Given the description of an element on the screen output the (x, y) to click on. 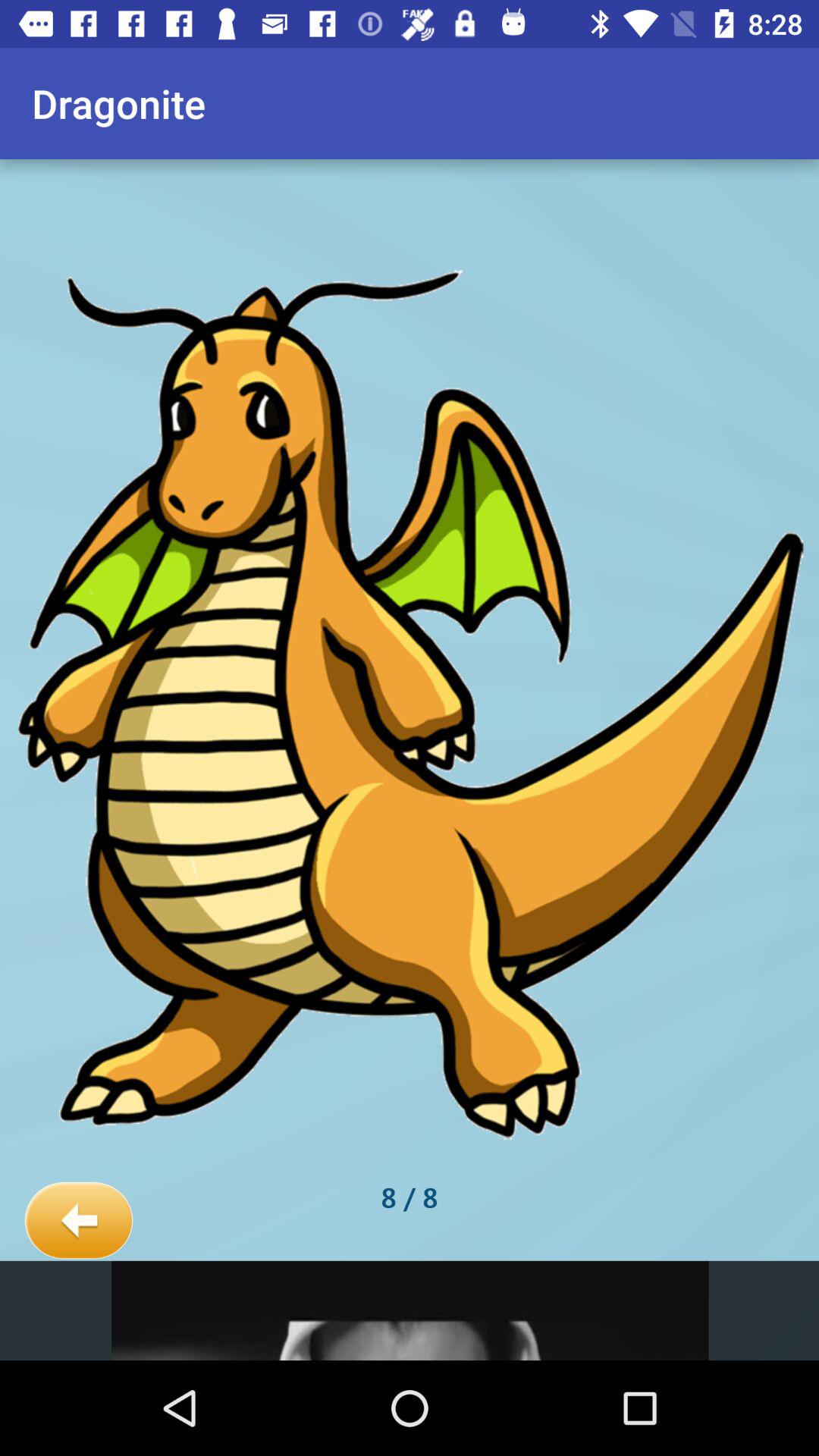
turn off the item next to the 8 / 8 item (78, 1220)
